Given the description of an element on the screen output the (x, y) to click on. 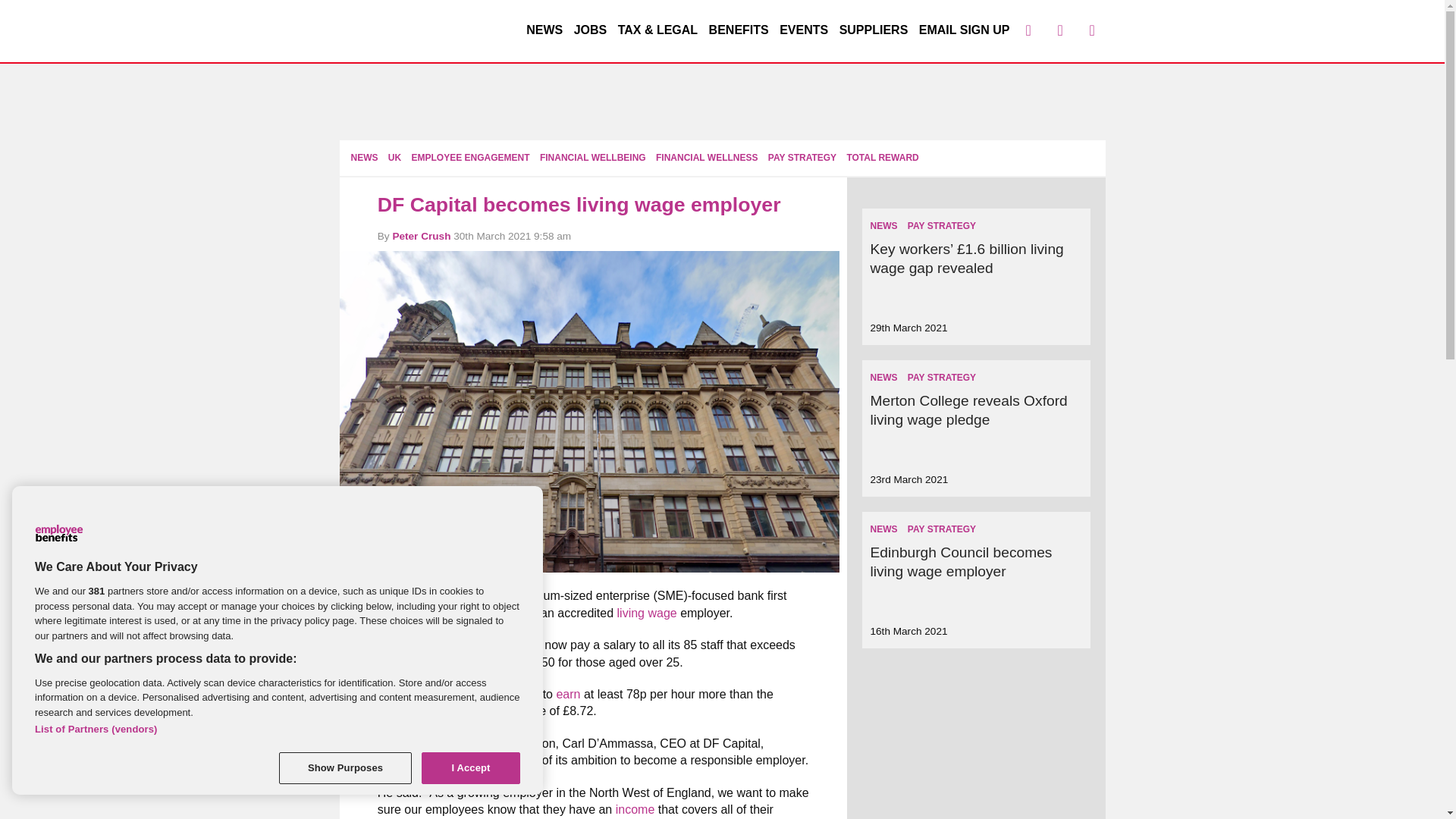
PAY STRATEGY (941, 377)
NEWS (543, 29)
Peter Crush (420, 235)
Merton College reveals Oxford living wage pledge (968, 410)
earn (567, 694)
PAY STRATEGY (941, 529)
NEWS (882, 529)
UK (394, 157)
Posts by Peter Crush (420, 235)
EVENTS (803, 29)
EMPLOYEE ENGAGEMENT (470, 157)
BENEFITS (738, 29)
TOTAL REWARD (881, 157)
PAY STRATEGY (941, 225)
PAY STRATEGY (801, 157)
